Given the description of an element on the screen output the (x, y) to click on. 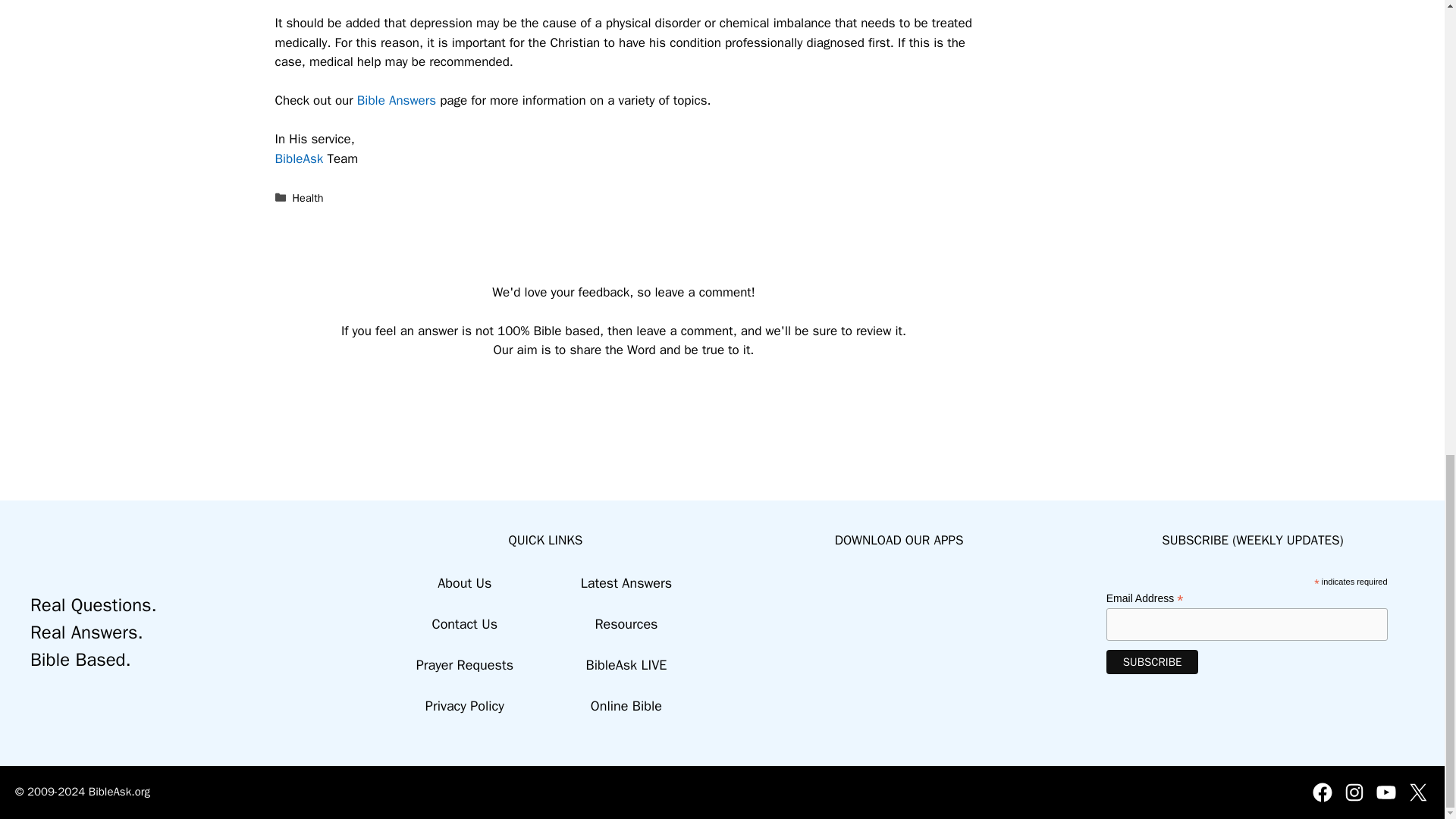
Subscribe (1152, 662)
BibleAsk (299, 158)
Bible Answers (395, 100)
